Given the description of an element on the screen output the (x, y) to click on. 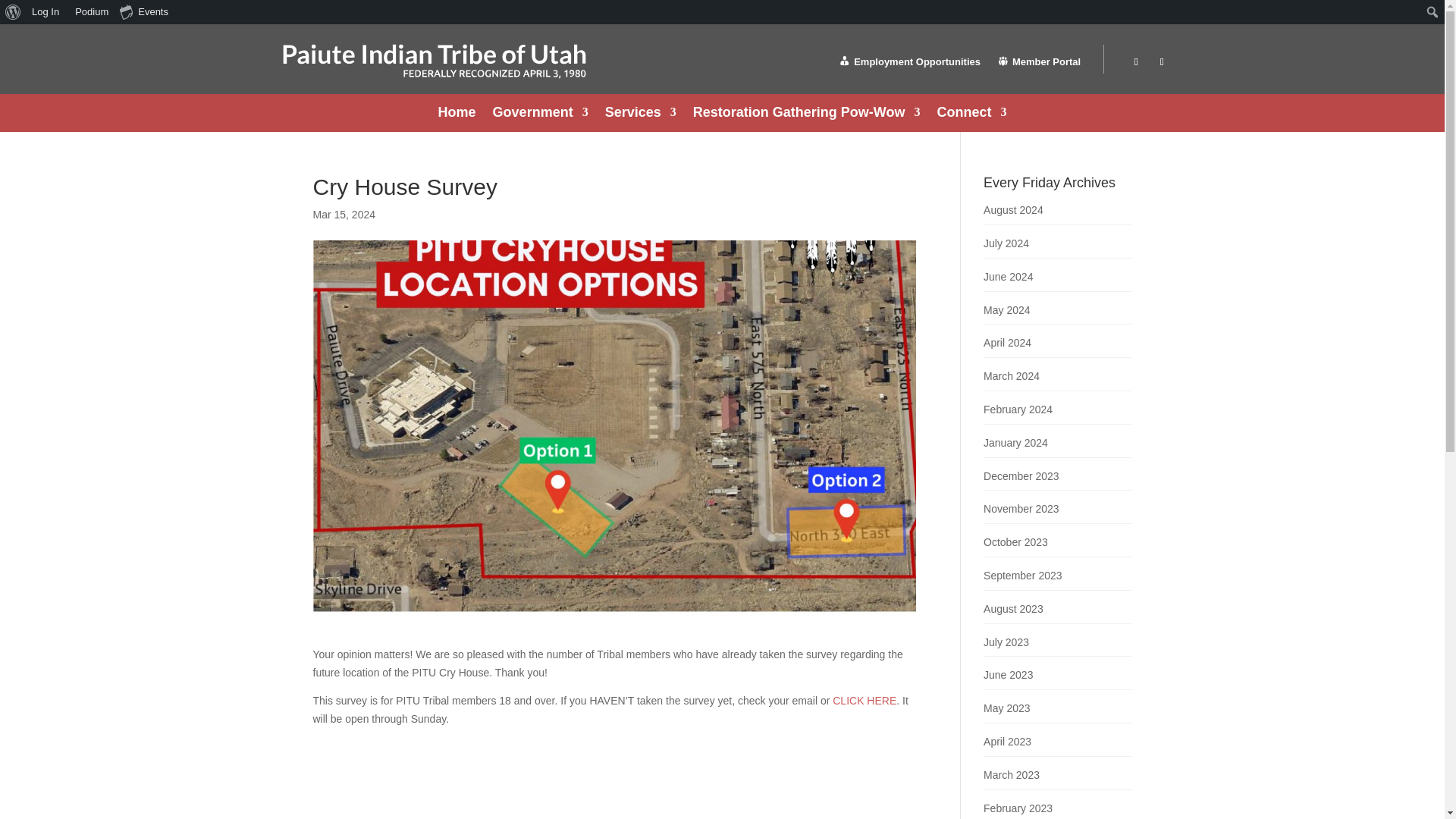
Follow on Instagram (1161, 62)
Services (641, 115)
Government (540, 115)
Employment Opportunities (908, 64)
Member Portal (1038, 64)
paiutes-logo (434, 60)
Connect (971, 115)
Podium Webchat (90, 12)
Restoration Gathering Pow-Wow (806, 115)
Home (457, 115)
